Given the description of an element on the screen output the (x, y) to click on. 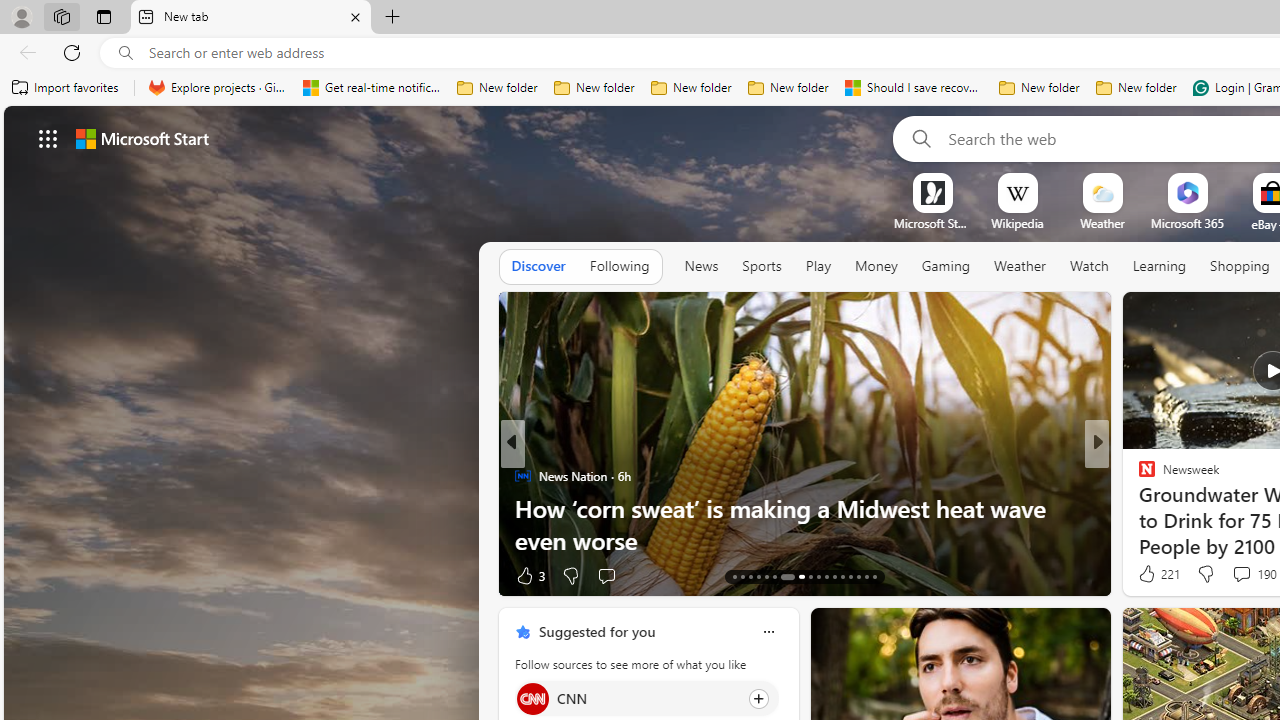
AutomationID: tab-25 (842, 576)
New folder (1136, 88)
App launcher (47, 138)
Should I save recovered Word documents? - Microsoft Support (913, 88)
AutomationID: tab-22 (818, 576)
Class:   (1159, 267)
Search (917, 138)
AutomationID: tab-26 (850, 576)
583 Like (1151, 574)
View comments 174 Comment (1234, 575)
AutomationID: tab-24 (833, 576)
Craft Your Happy Place (1138, 507)
Learning (1159, 265)
Workspaces (61, 16)
4 Like (1145, 574)
